Given the description of an element on the screen output the (x, y) to click on. 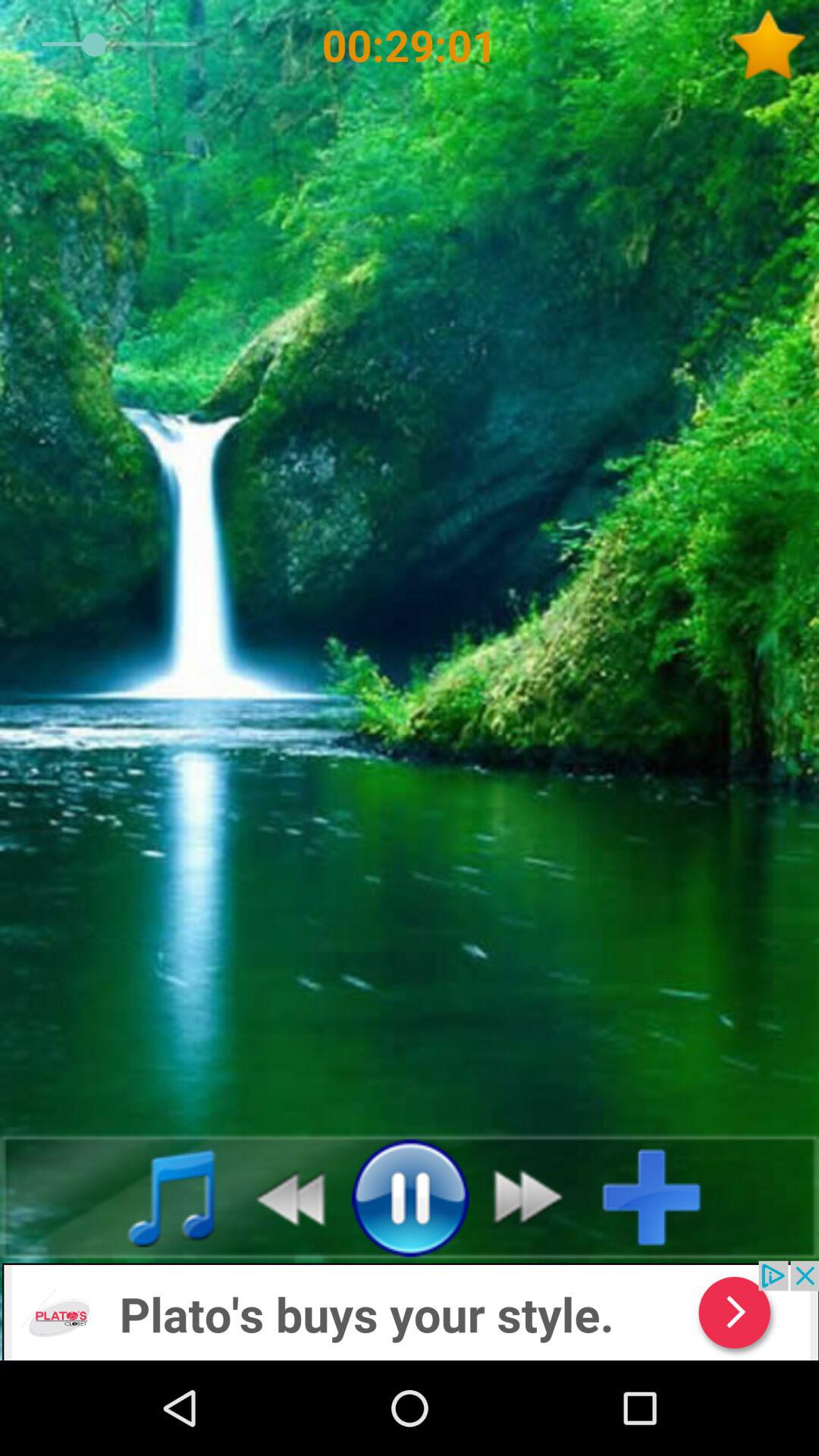
add music (664, 1196)
